Given the description of an element on the screen output the (x, y) to click on. 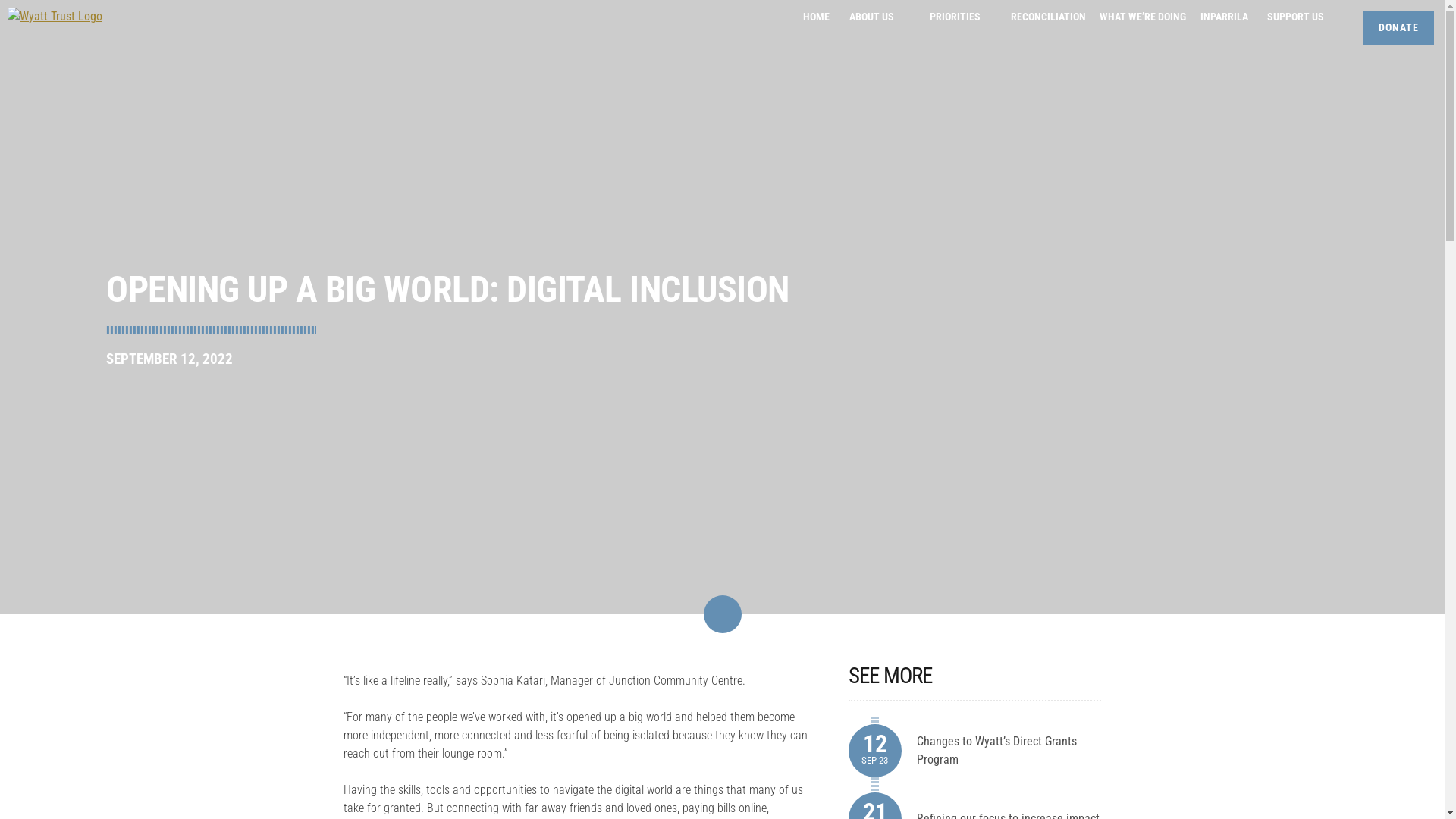
HOME Element type: text (815, 17)
Wyatt Trust Element type: text (34, 46)
INPARRILA Element type: text (1223, 17)
RECONCILIATION Element type: text (1048, 17)
DONATE Element type: text (1398, 27)
